Given the description of an element on the screen output the (x, y) to click on. 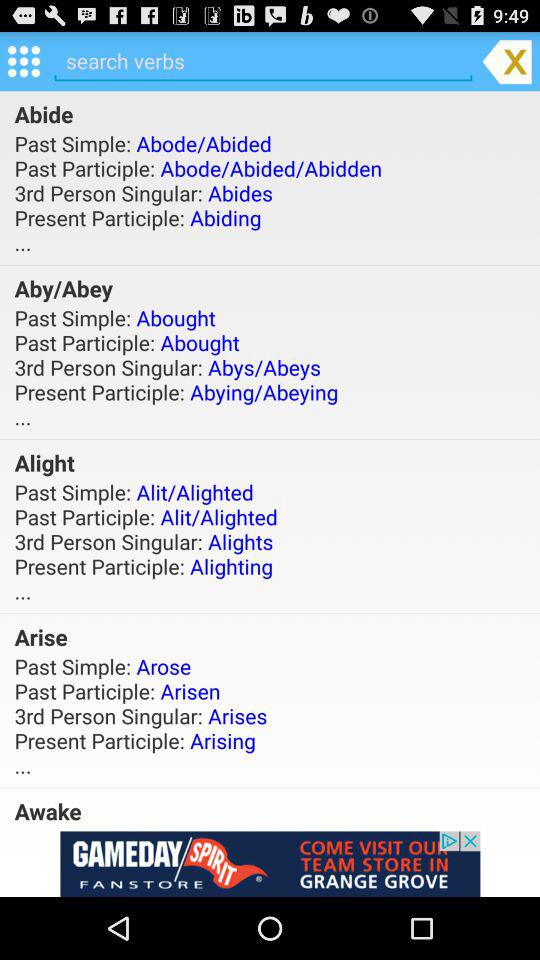
close (506, 60)
